Given the description of an element on the screen output the (x, y) to click on. 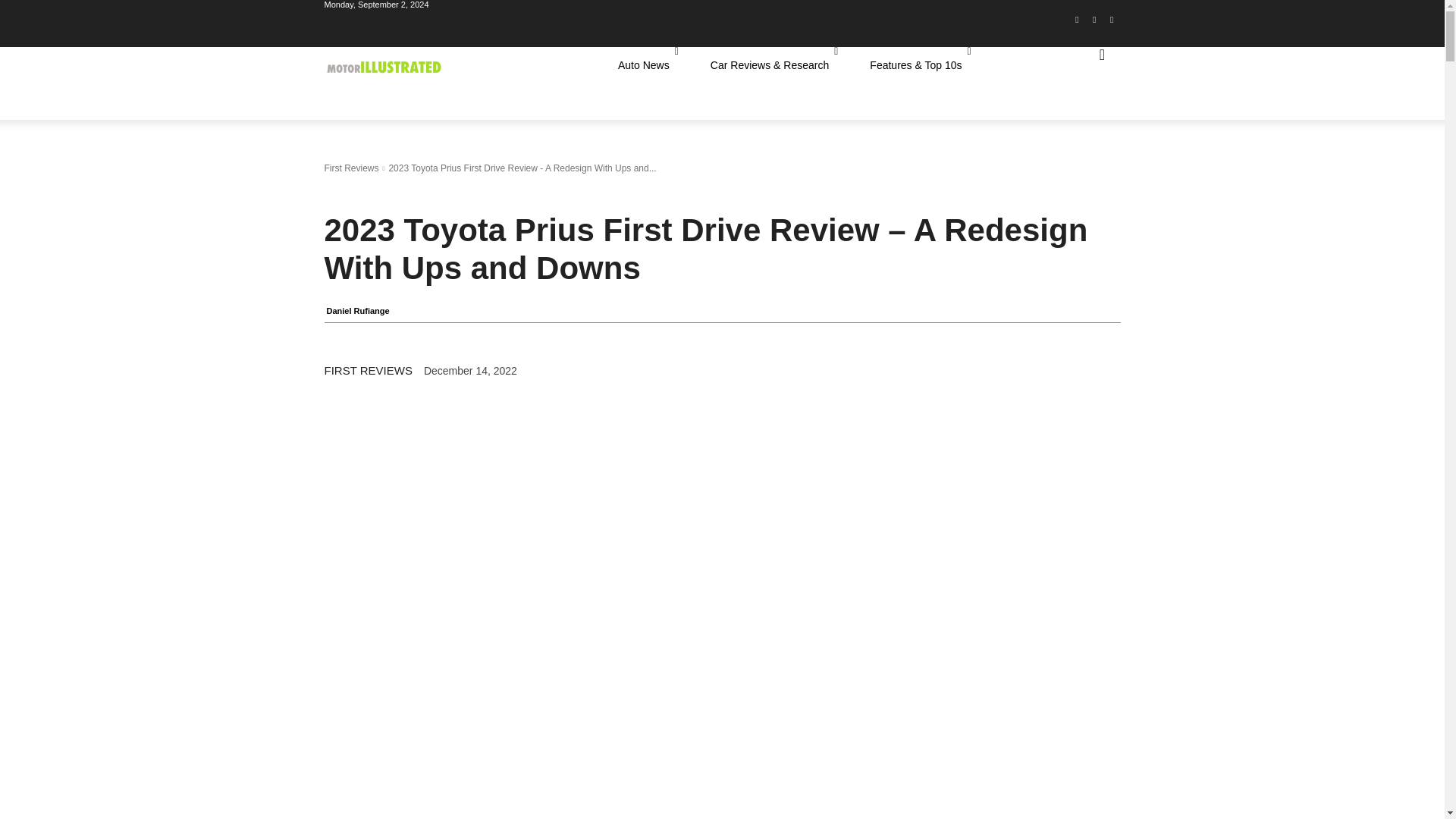
Facebook (1077, 23)
View all posts in First Reviews (351, 167)
Youtube (1112, 23)
Auto News (648, 64)
Instagram (1094, 23)
